Given the description of an element on the screen output the (x, y) to click on. 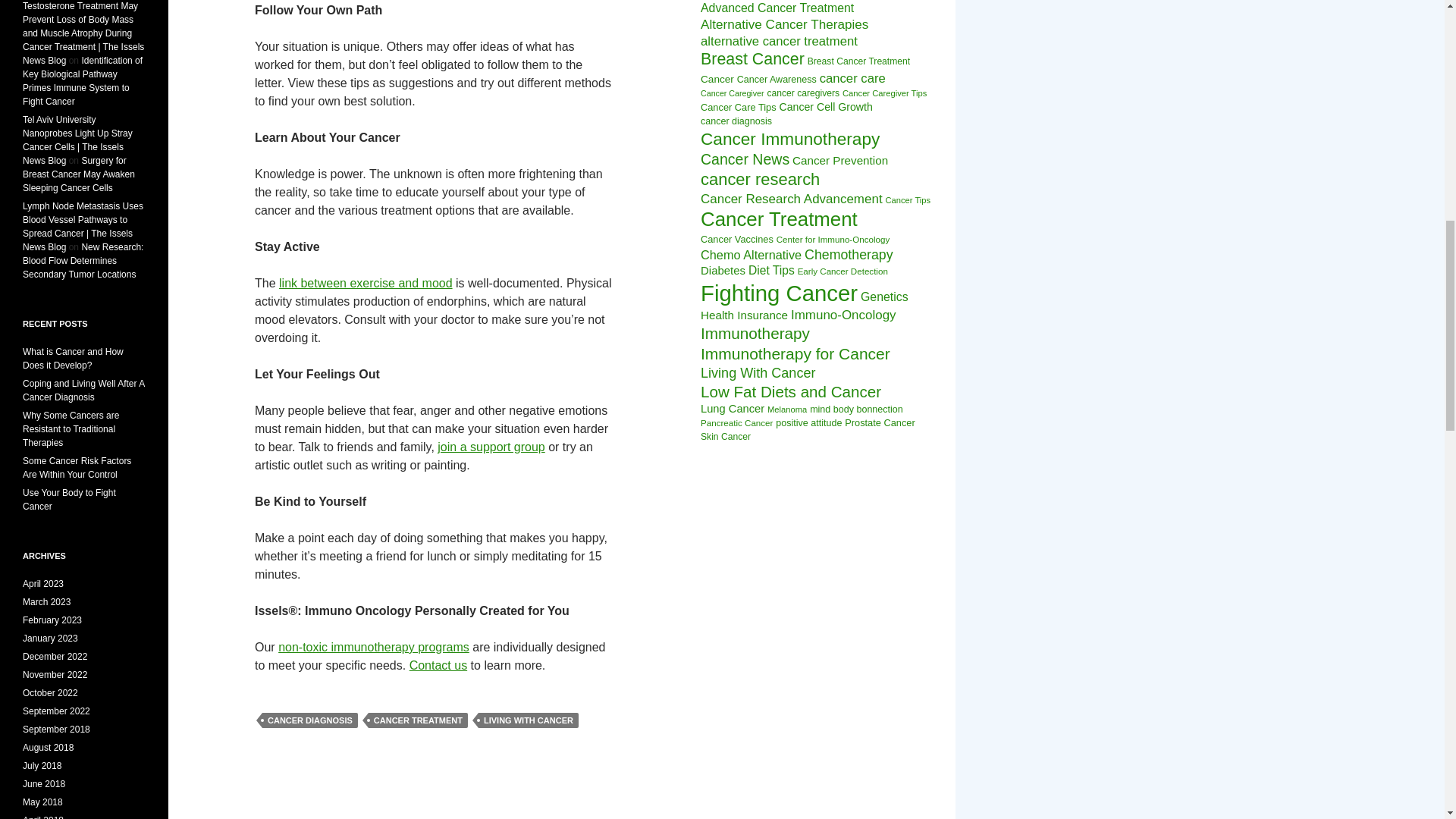
non-toxic immunotherapy programs (373, 646)
link between exercise and mood (365, 282)
LIVING WITH CANCER (528, 720)
join a support group (491, 446)
CANCER DIAGNOSIS (310, 720)
CANCER TREATMENT (417, 720)
Contact us (438, 665)
